Given the description of an element on the screen output the (x, y) to click on. 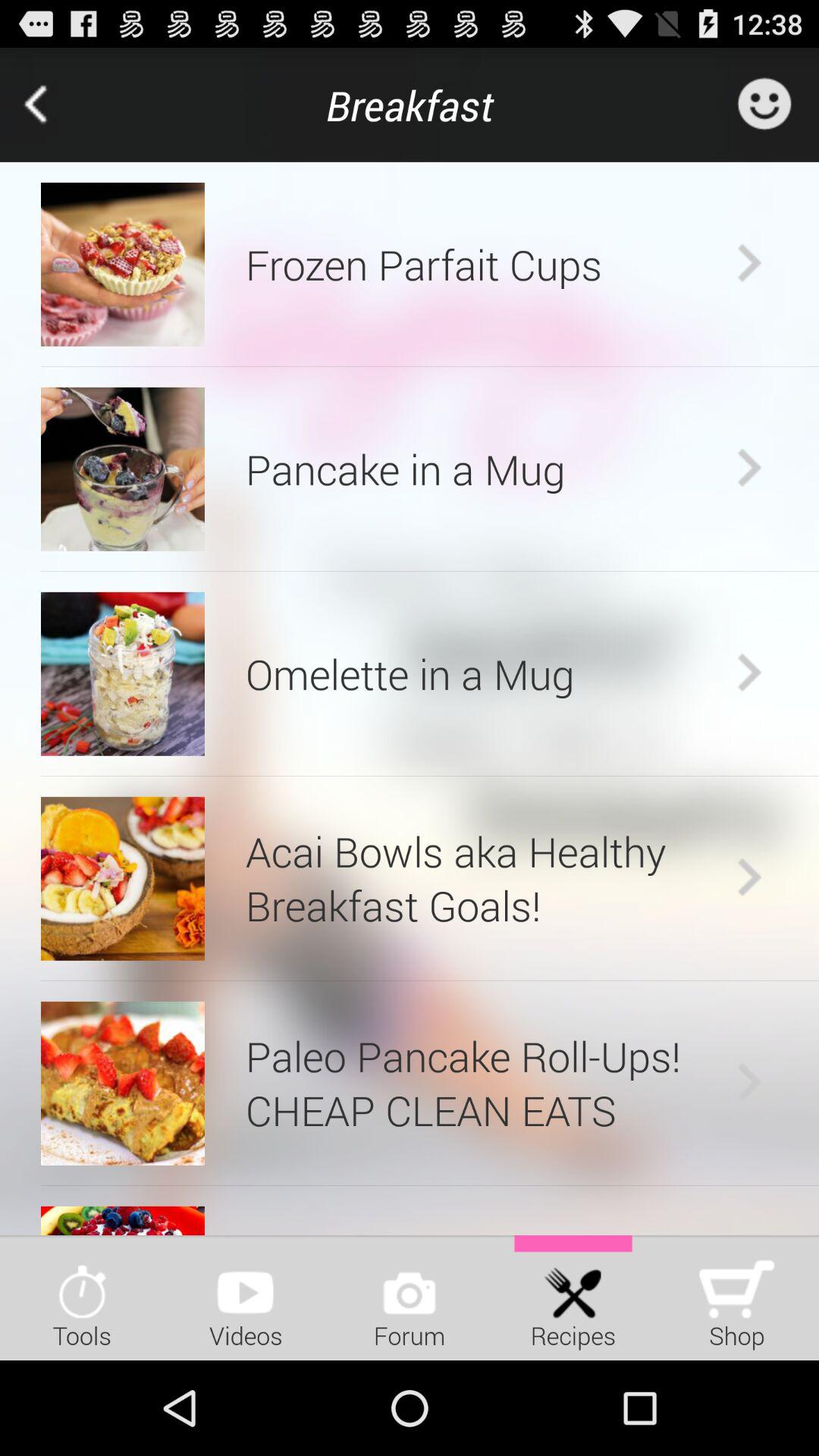
tap the icon next to acai bowls aka (749, 878)
